Given the description of an element on the screen output the (x, y) to click on. 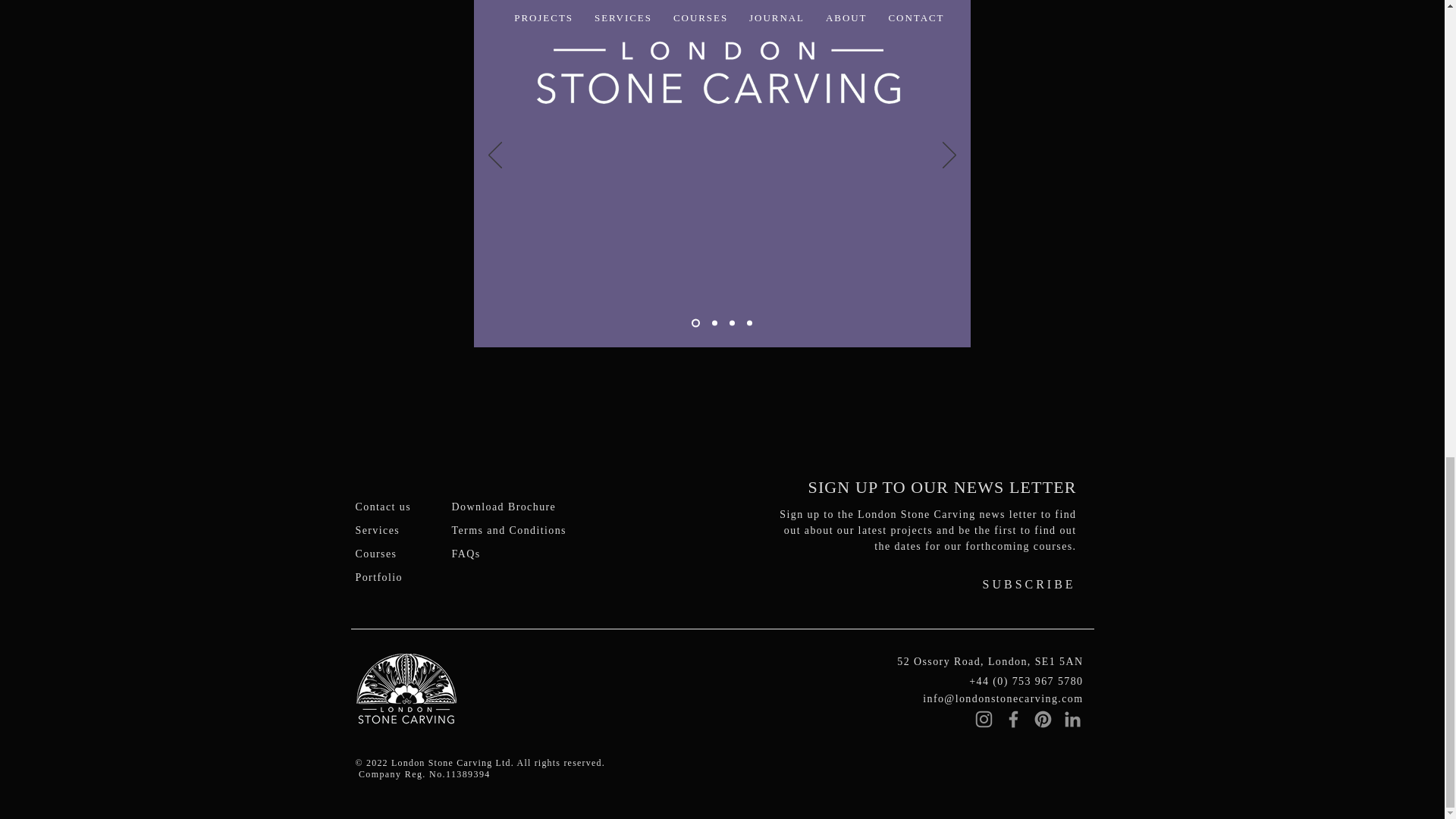
Services (376, 530)
SUBSCRIBE (1067, 584)
Courses (375, 553)
FAQs (465, 553)
Contact us (382, 506)
Portfolio (378, 577)
Terms and Conditions (508, 530)
52 Ossory Road, London, SE1 5AN (989, 661)
